Given the description of an element on the screen output the (x, y) to click on. 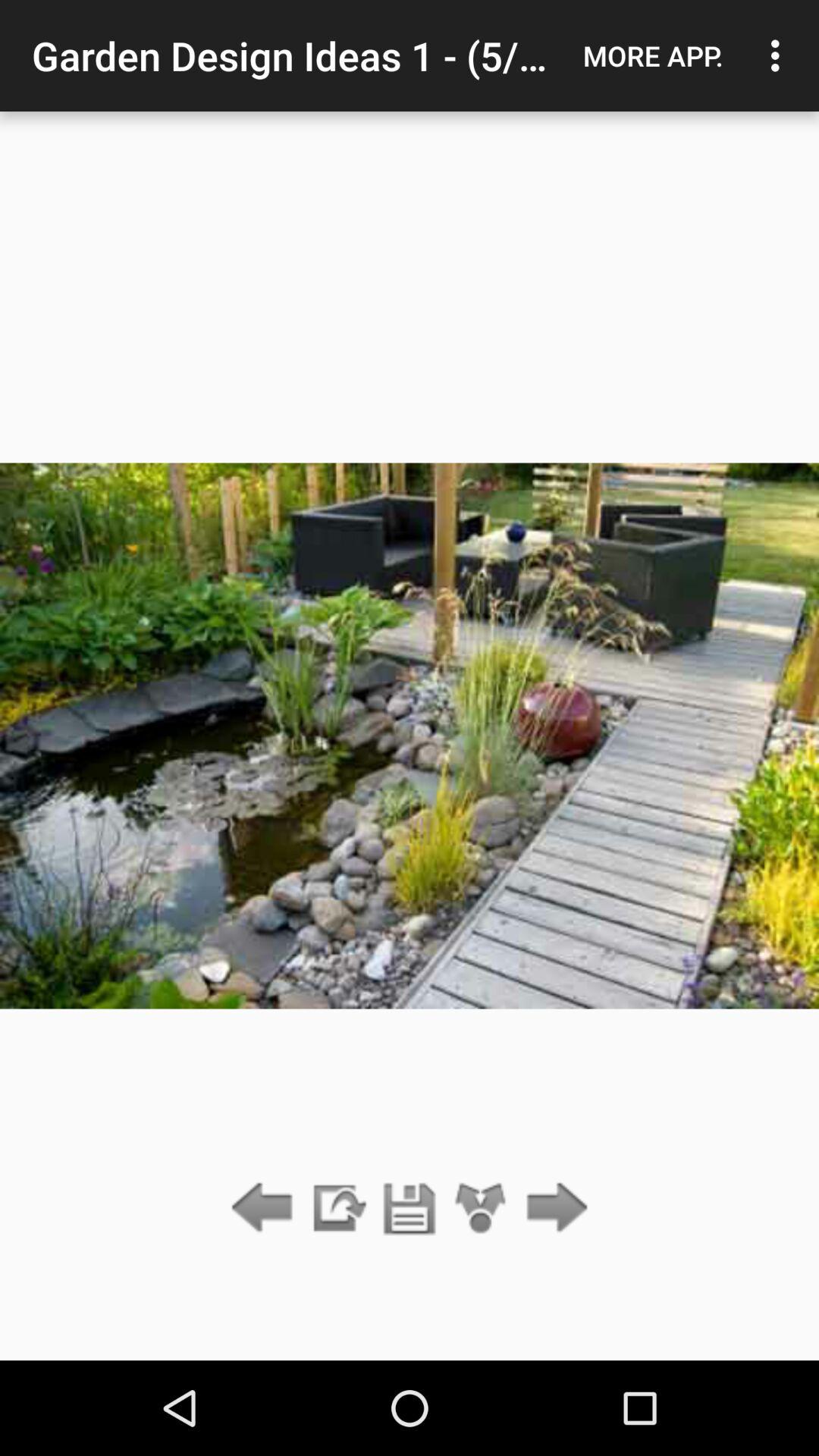
for next (552, 1209)
